Given the description of an element on the screen output the (x, y) to click on. 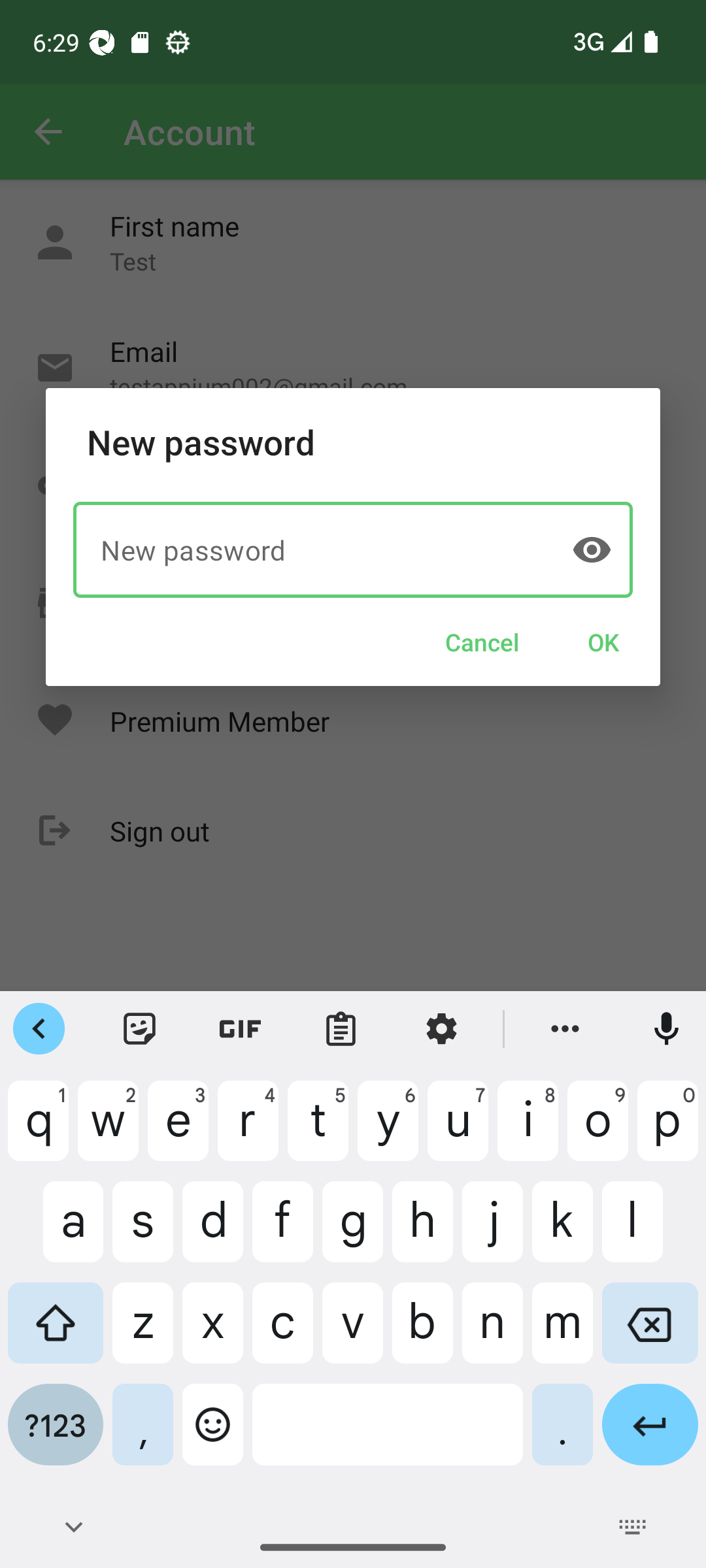
New password (352, 549)
Show password (591, 549)
Cancel (481, 641)
OK (603, 641)
